Given the description of an element on the screen output the (x, y) to click on. 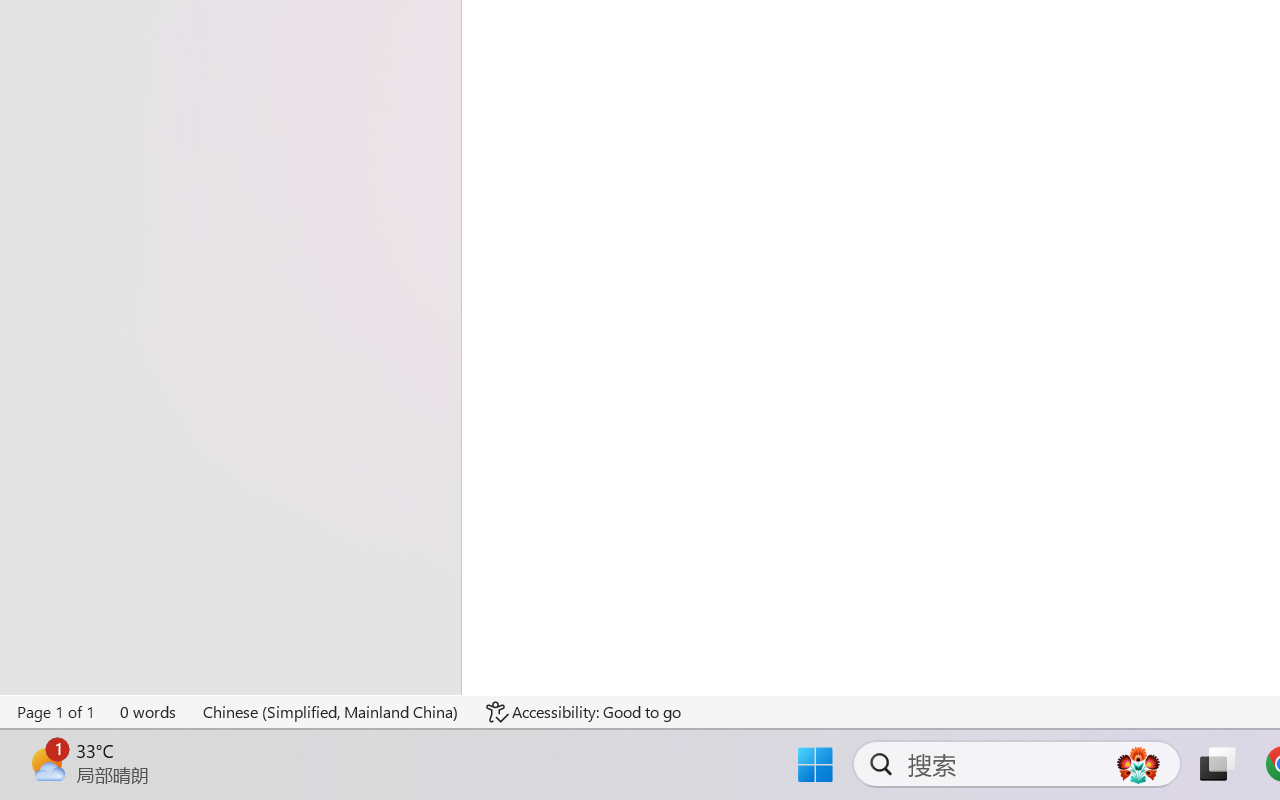
Language Chinese (Simplified, Mainland China) (331, 712)
